Given the description of an element on the screen output the (x, y) to click on. 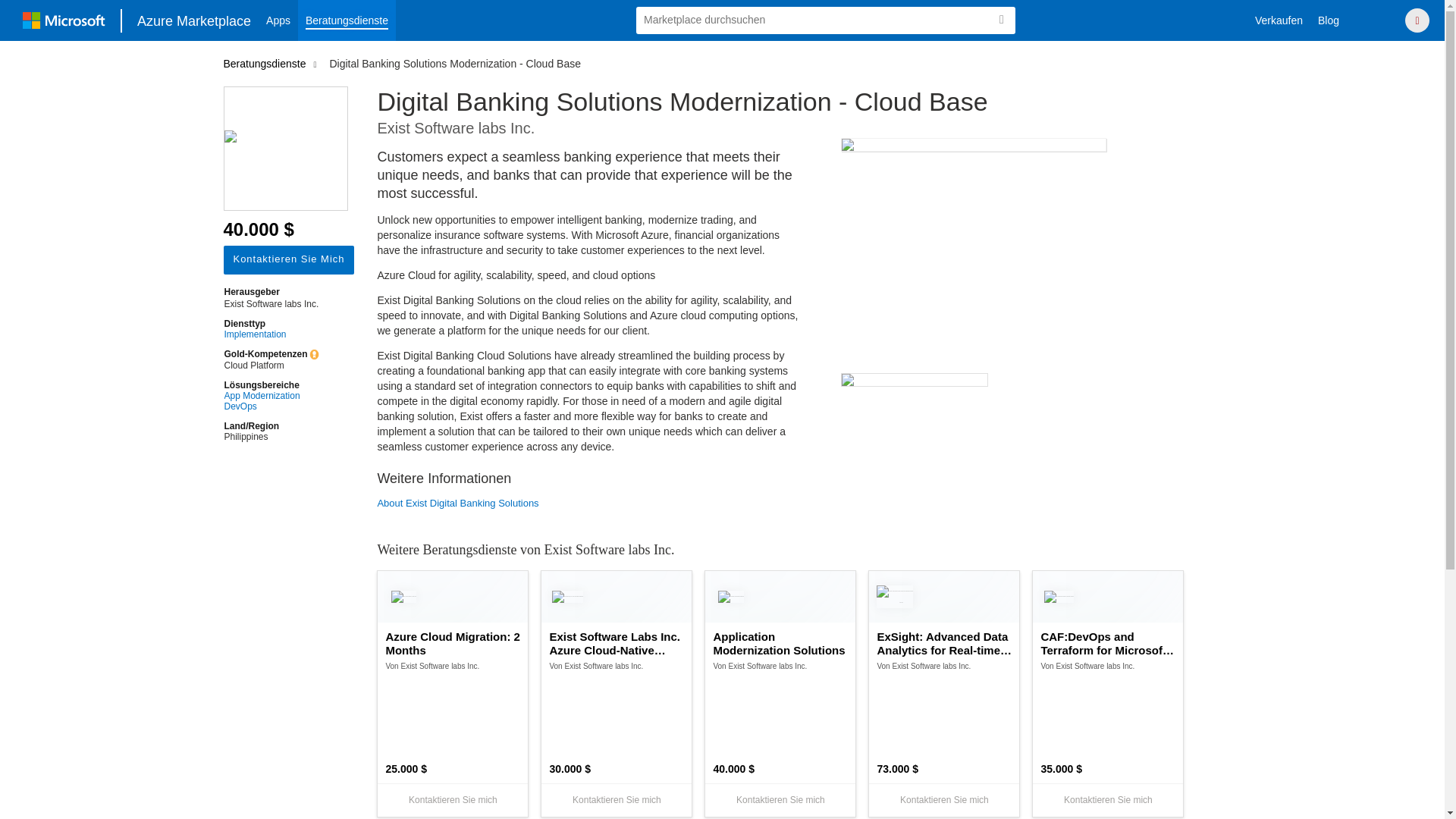
Application Modernization Solutions (780, 643)
Verkaufen (1278, 20)
Feedback (1377, 20)
"" suchen (1001, 19)
CAF:DevOps and Terraform for Microsoft Azure (1107, 643)
Azure Marketplace (194, 20)
Beratungsdienste (347, 20)
Azure Cloud Migration: 2 Months (452, 643)
Exist Software Labs Inc. Azure Cloud-Native Services (616, 643)
